Given the description of an element on the screen output the (x, y) to click on. 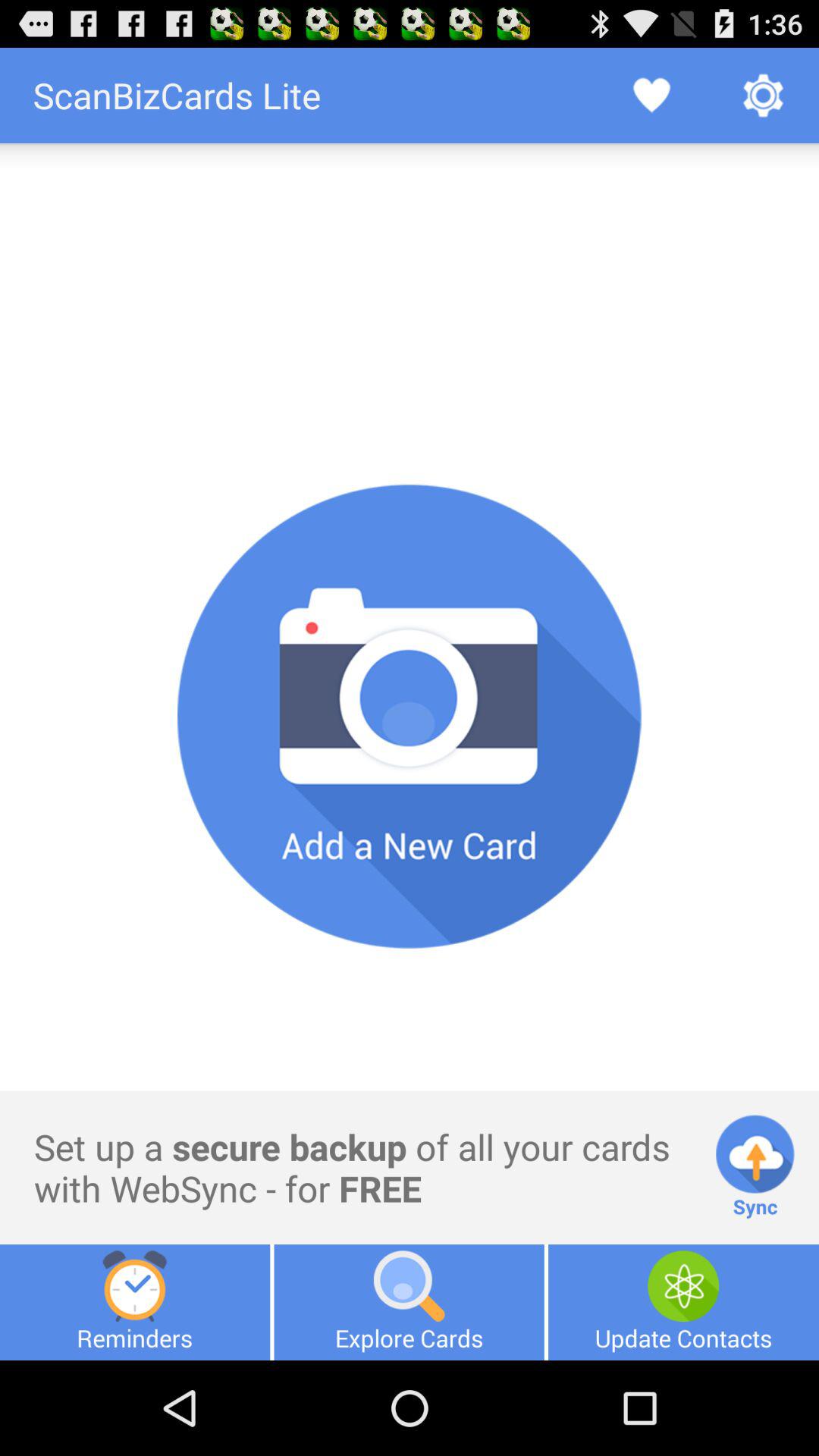
tap item next to reminders (409, 1302)
